Given the description of an element on the screen output the (x, y) to click on. 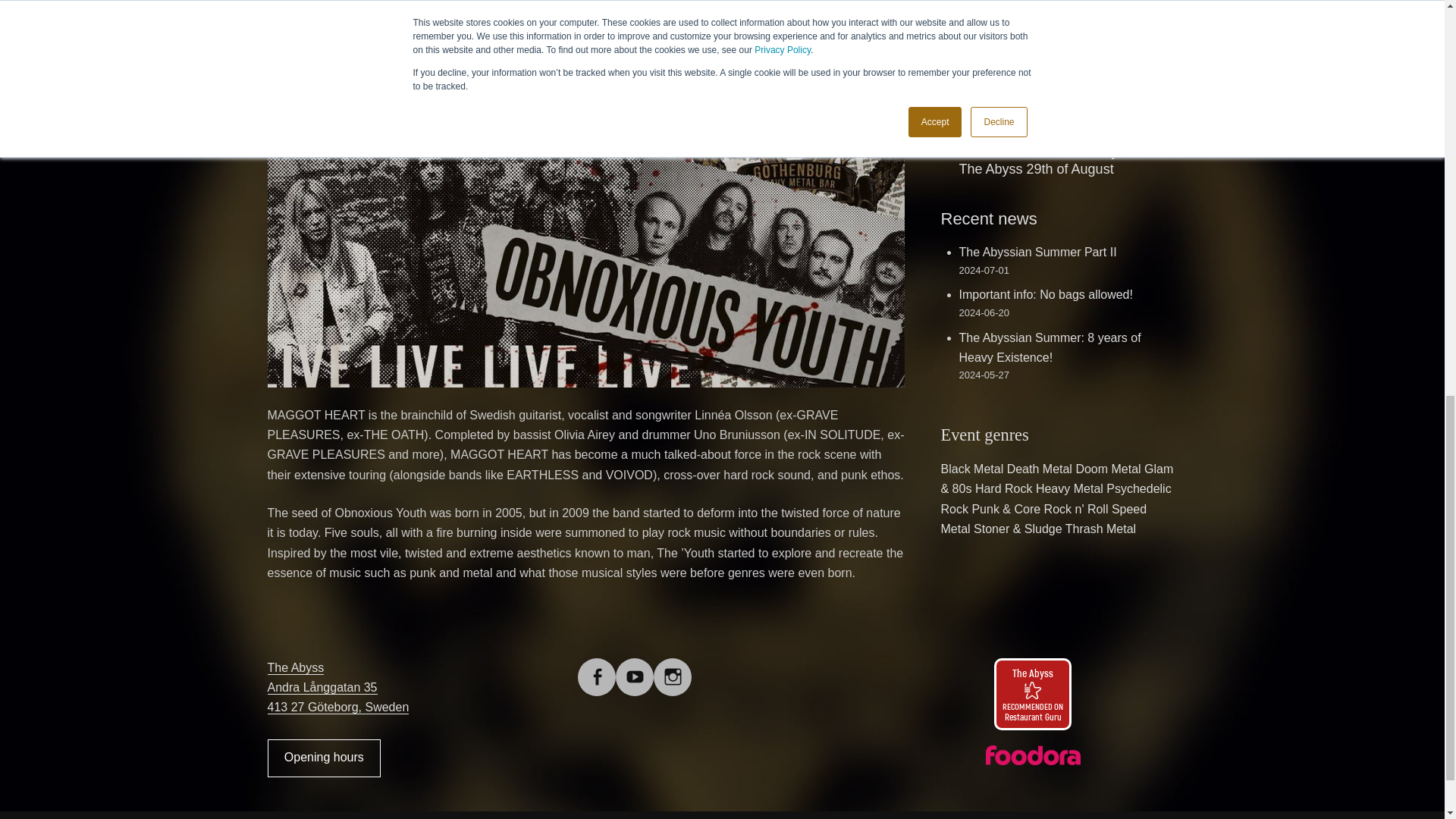
The Abyssian Summer: 8 years of Heavy Existence! (1049, 347)
Doom Metal (1107, 468)
Order food from Foodora (1032, 754)
Hard Rock (1003, 488)
Black Metal (971, 468)
The Abyssian Summer Part II (1037, 251)
Heavy Metal (1069, 488)
Psychedelic Rock (1055, 498)
Facebook (596, 667)
